Given the description of an element on the screen output the (x, y) to click on. 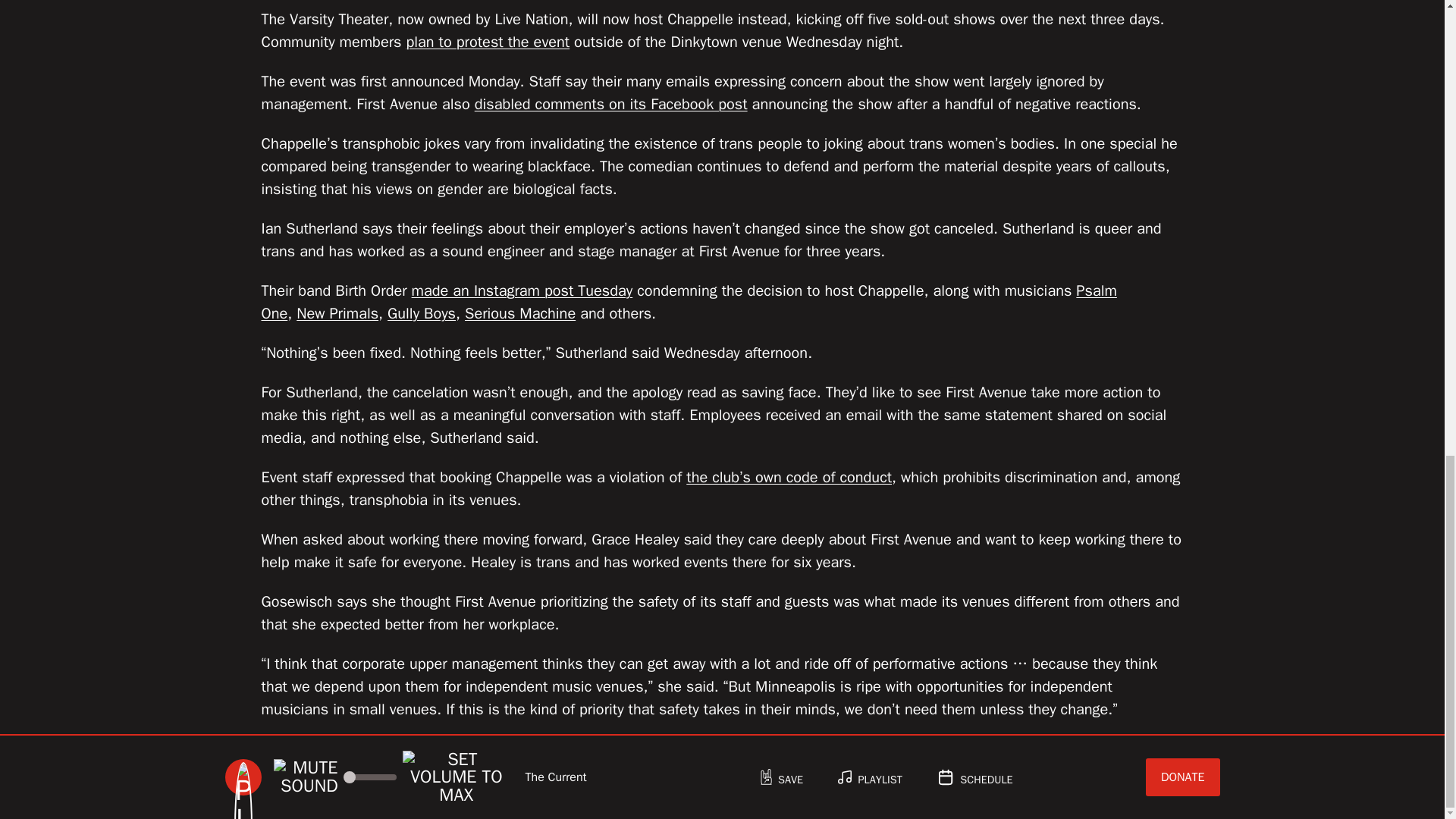
MPR News (550, 748)
Gully Boys (421, 312)
plan to protest the event (487, 41)
disabled comments on its Facebook post (611, 104)
made an Instagram post Tuesday (522, 290)
Serious Machine (519, 312)
New Primals (337, 312)
Psalm One (688, 301)
